Given the description of an element on the screen output the (x, y) to click on. 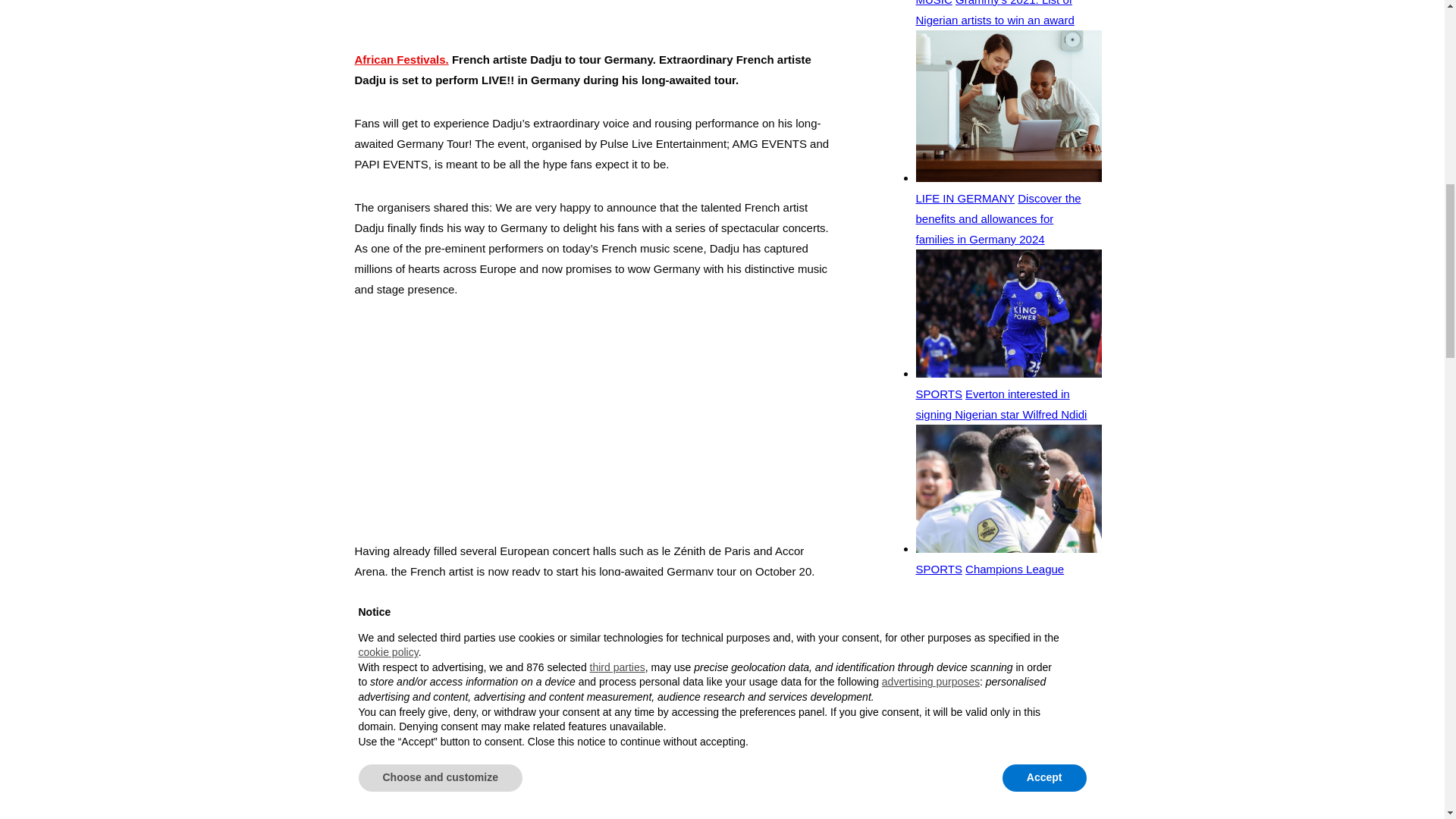
African Festivals. (401, 59)
